Given the description of an element on the screen output the (x, y) to click on. 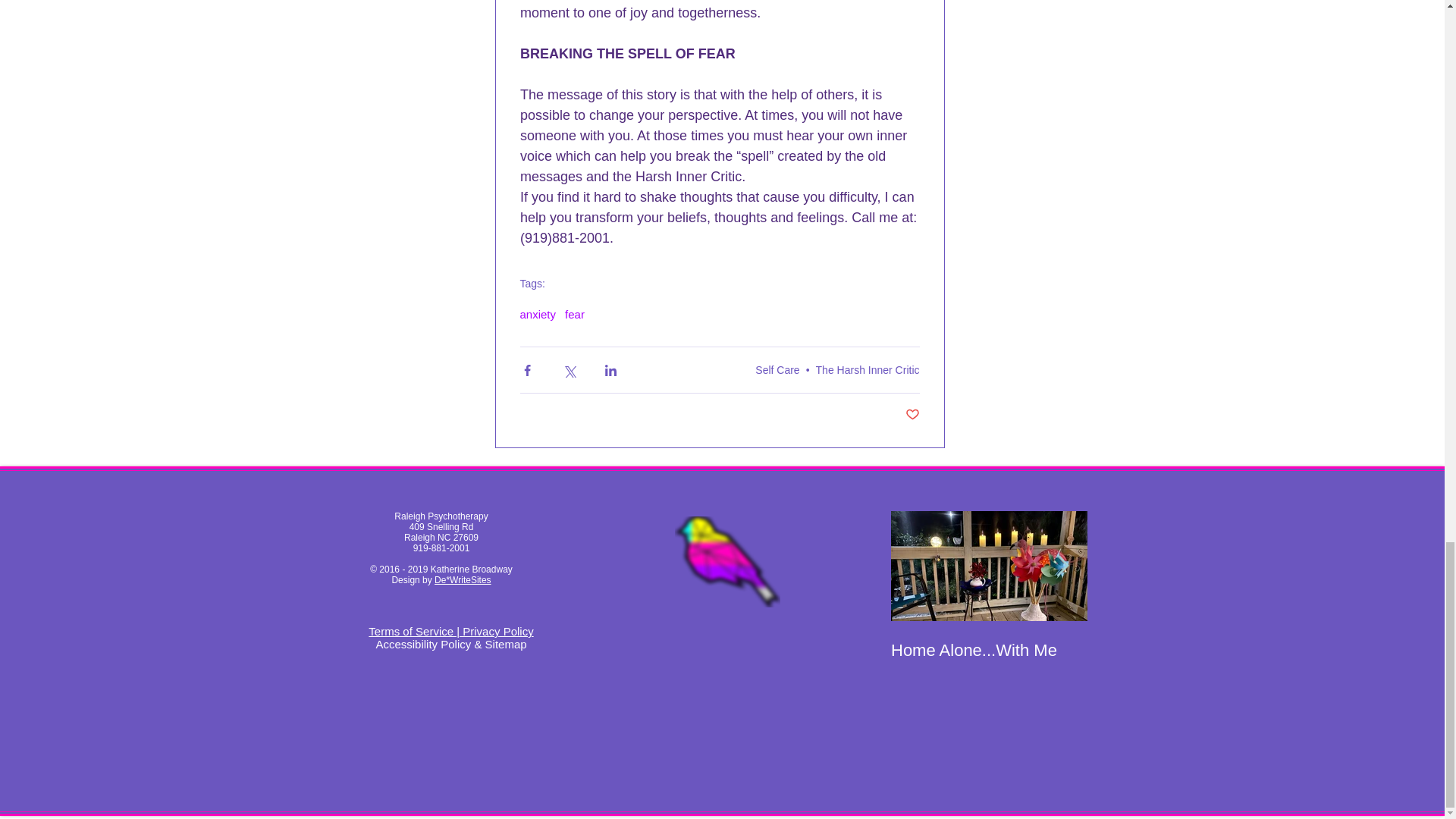
Self Care (777, 369)
Home Alone...With Me (987, 650)
anxiety (537, 314)
fear (574, 314)
The Harsh Inner Critic (867, 369)
Doubt, Restlessness and Boredom (1185, 660)
Post not marked as liked (912, 415)
